Given the description of an element on the screen output the (x, y) to click on. 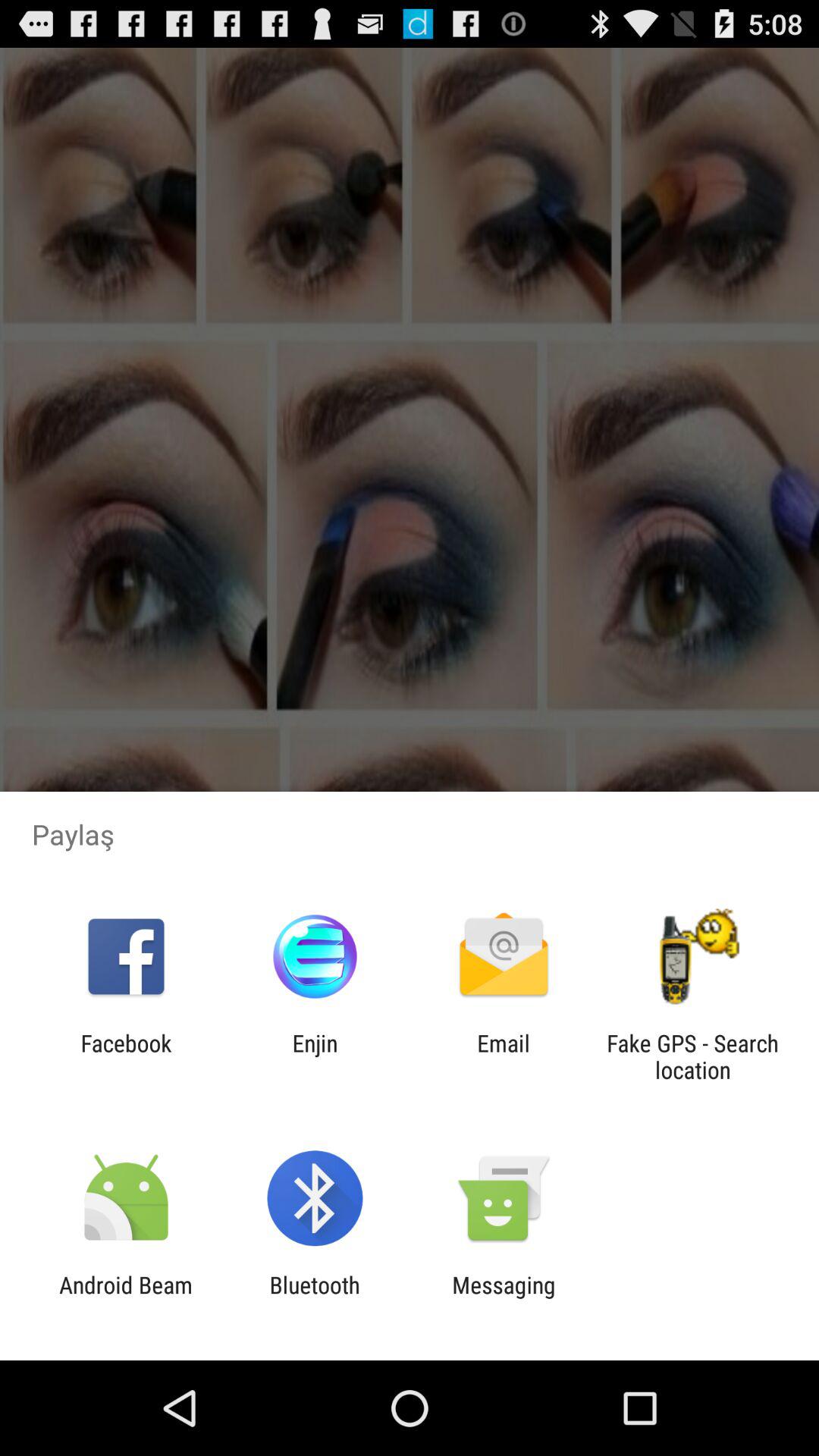
scroll to email app (503, 1056)
